Given the description of an element on the screen output the (x, y) to click on. 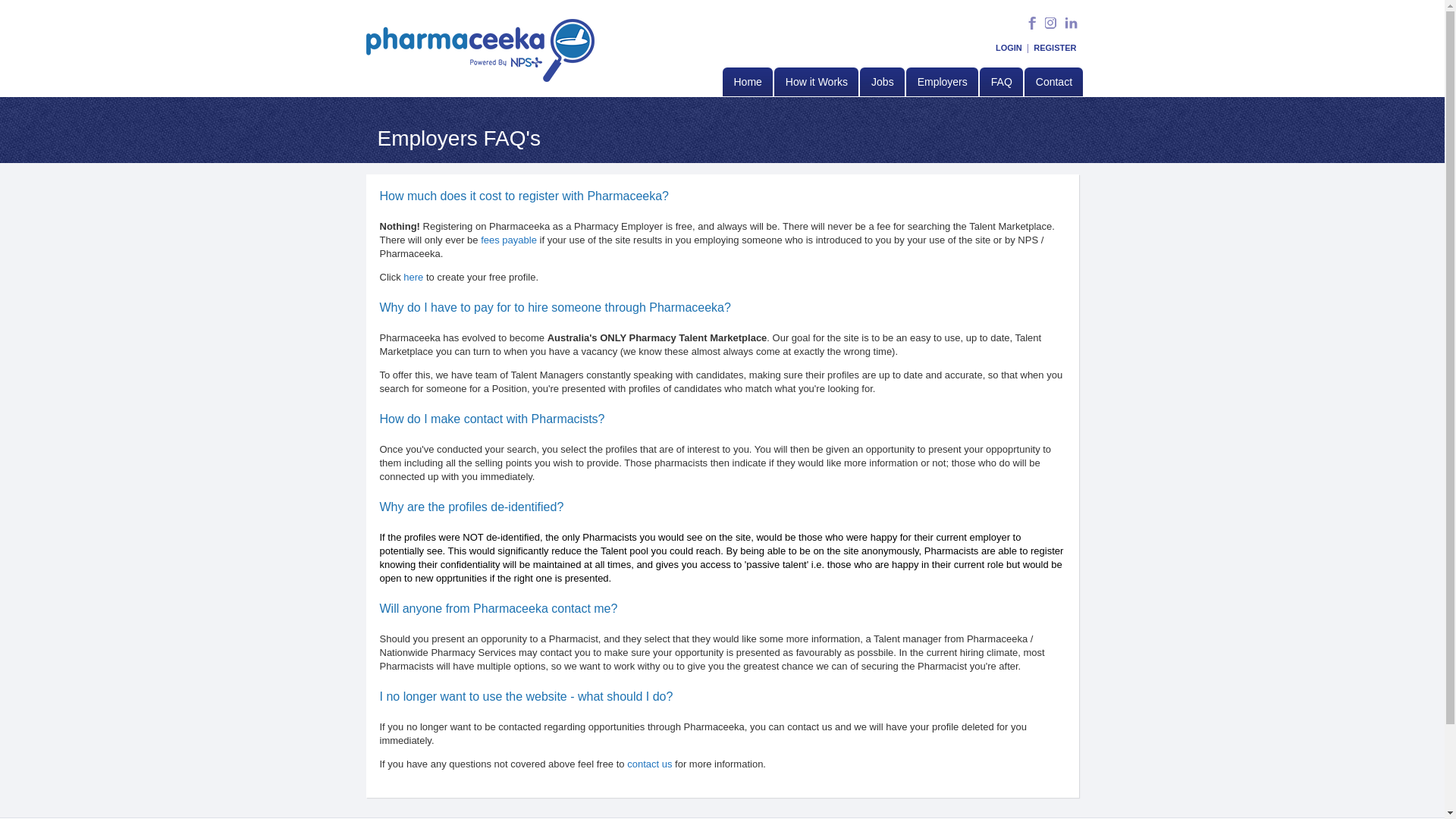
here Element type: text (414, 276)
Facebook Element type: hover (1033, 27)
Employers Element type: text (942, 81)
Home Element type: text (746, 81)
Contact Element type: text (1053, 81)
Jobs Element type: text (881, 81)
How it Works Element type: text (816, 81)
contact us Element type: text (649, 763)
fees payable Element type: text (508, 239)
LinkedIn Element type: hover (1071, 27)
FAQ Element type: text (1000, 81)
LOGIN Element type: text (1008, 47)
REGISTER Element type: text (1054, 47)
Instagram Element type: hover (1051, 27)
